Given the description of an element on the screen output the (x, y) to click on. 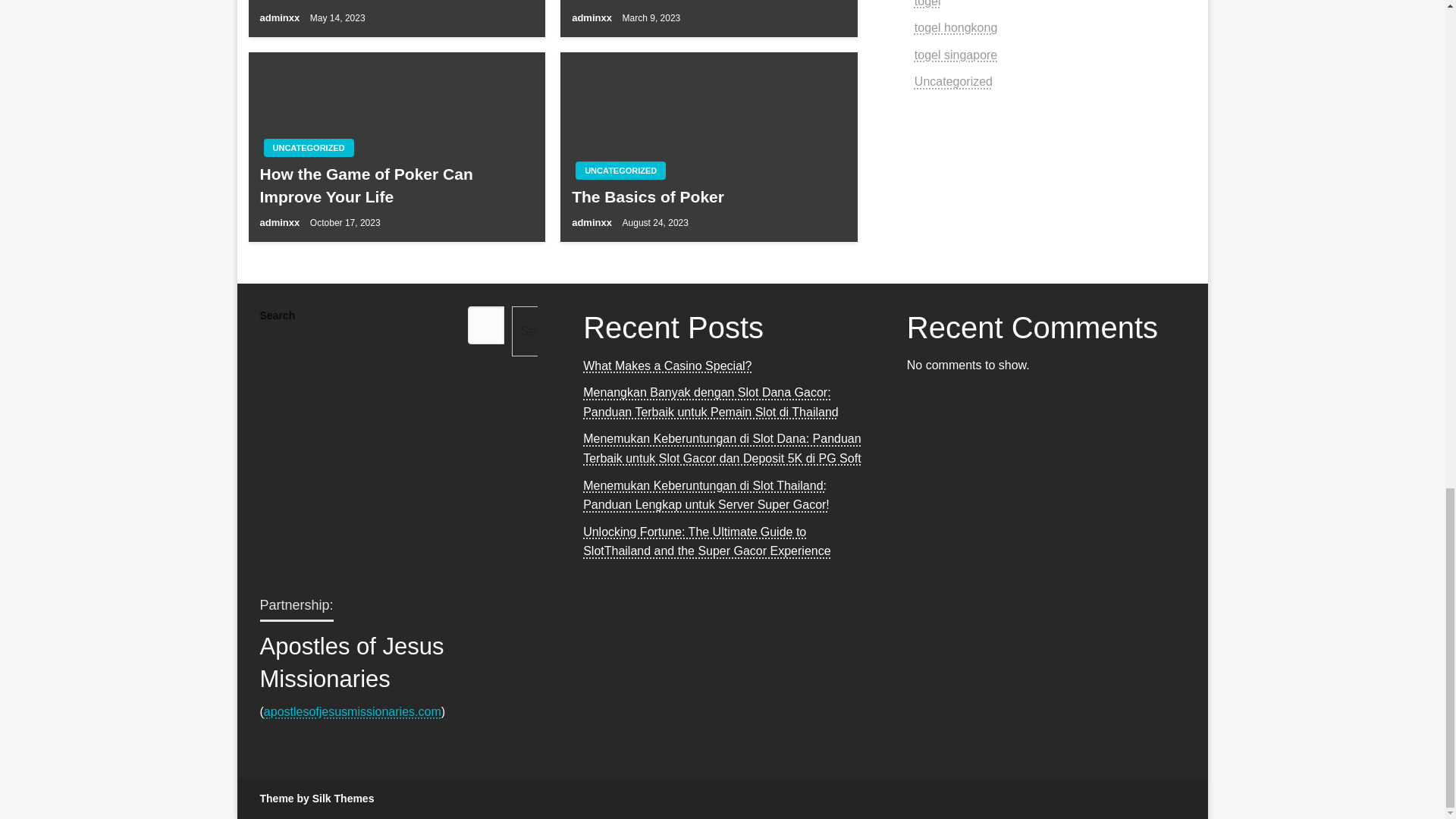
How the Game of Poker Can Improve Your Life (396, 185)
The Basics of Poker (708, 196)
UNCATEGORIZED (308, 147)
UNCATEGORIZED (620, 170)
The Basics of Poker (396, 1)
adminxx (593, 222)
adminxx (593, 17)
adminxx (280, 222)
adminxx (280, 17)
What is a Slot? (708, 1)
